Given the description of an element on the screen output the (x, y) to click on. 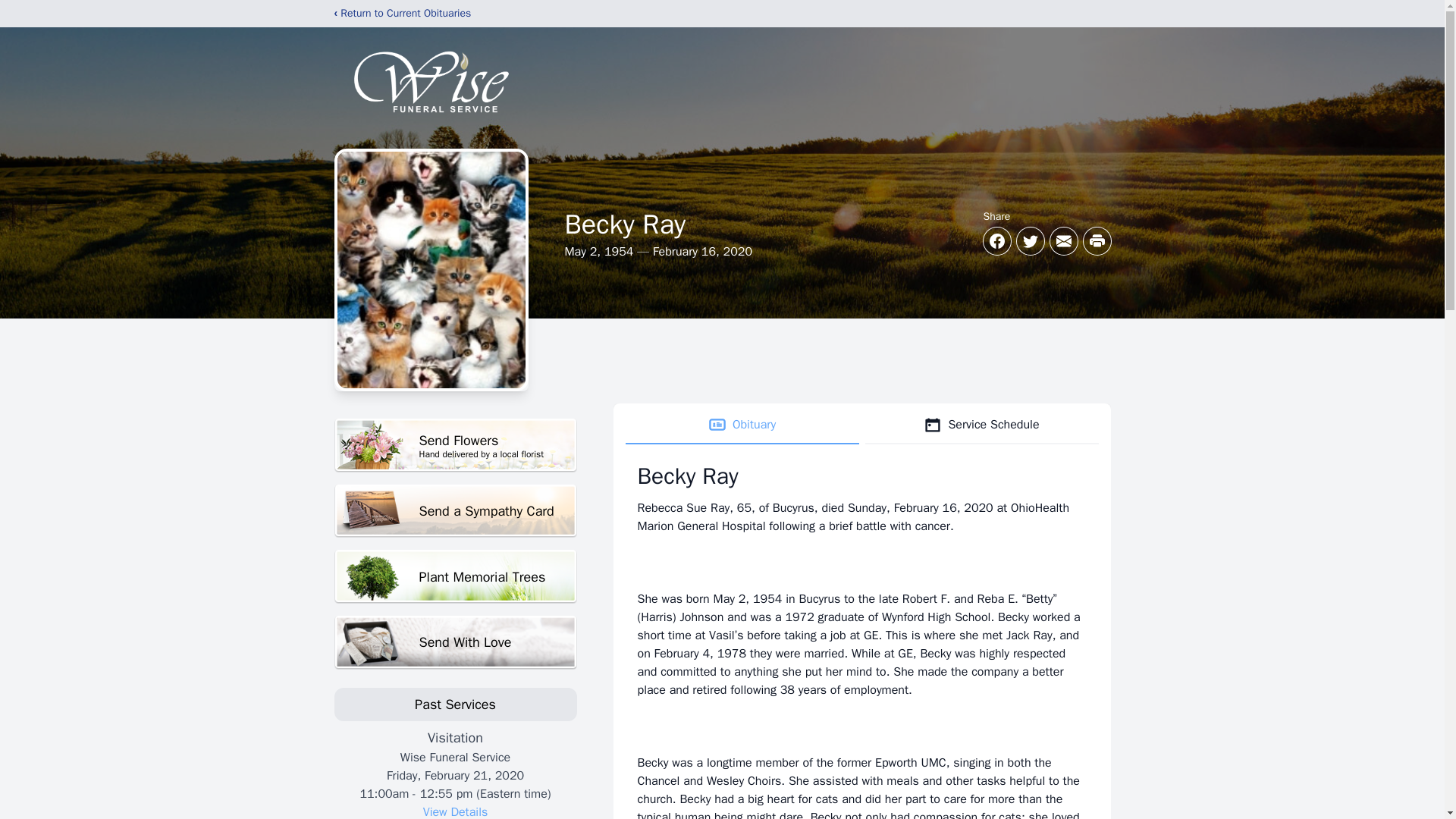
Obituary (454, 445)
Plant Memorial Trees (741, 425)
Service Schedule (454, 576)
Send With Love (980, 425)
Send a Sympathy Card (454, 642)
View Details (454, 511)
